Given the description of an element on the screen output the (x, y) to click on. 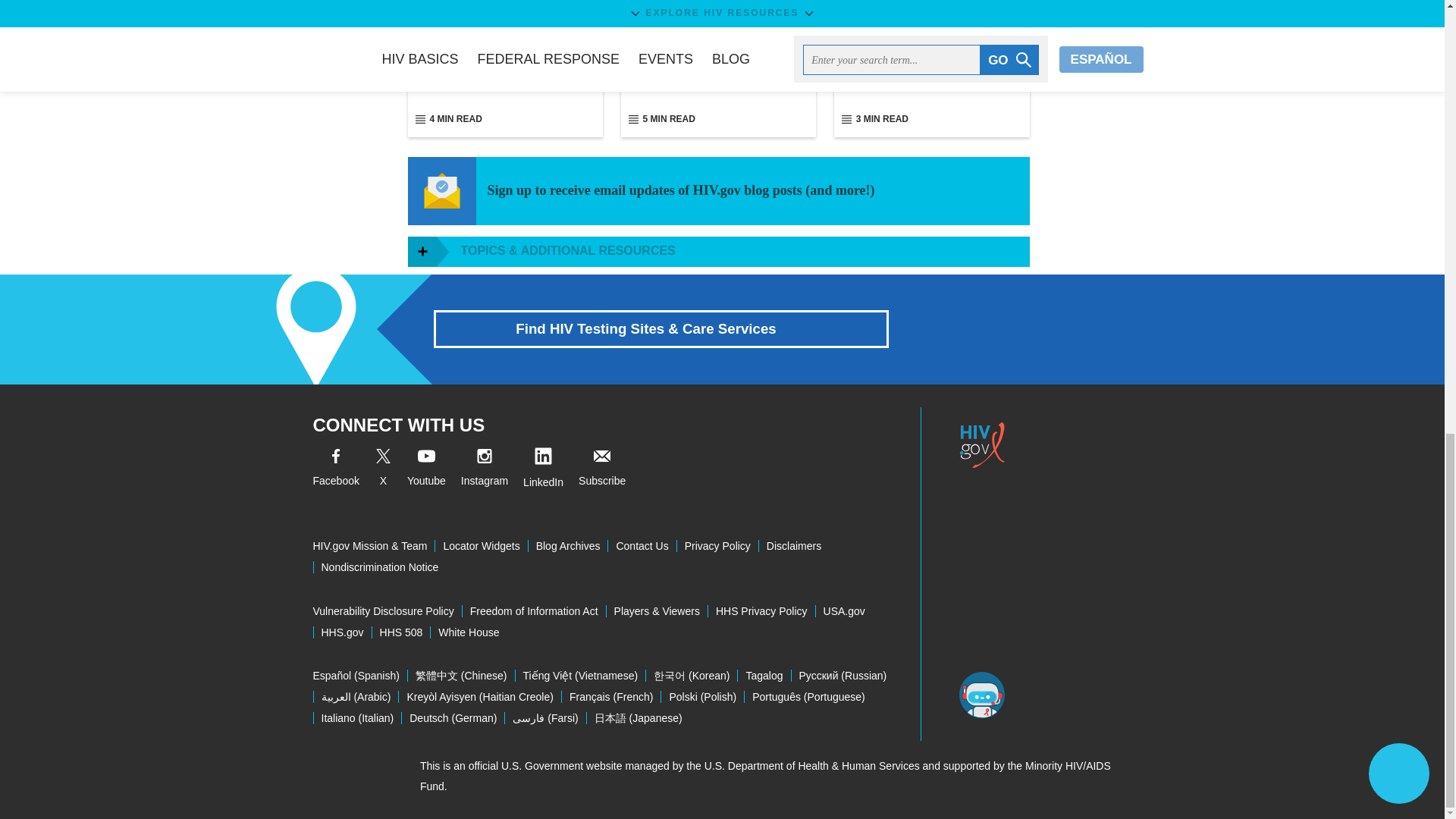
Visit to subscribe to HIV.gov email updates (602, 470)
Visit HIV.gov on Facebook (335, 470)
Visit HIV.gov on Instagram (484, 470)
